Given the description of an element on the screen output the (x, y) to click on. 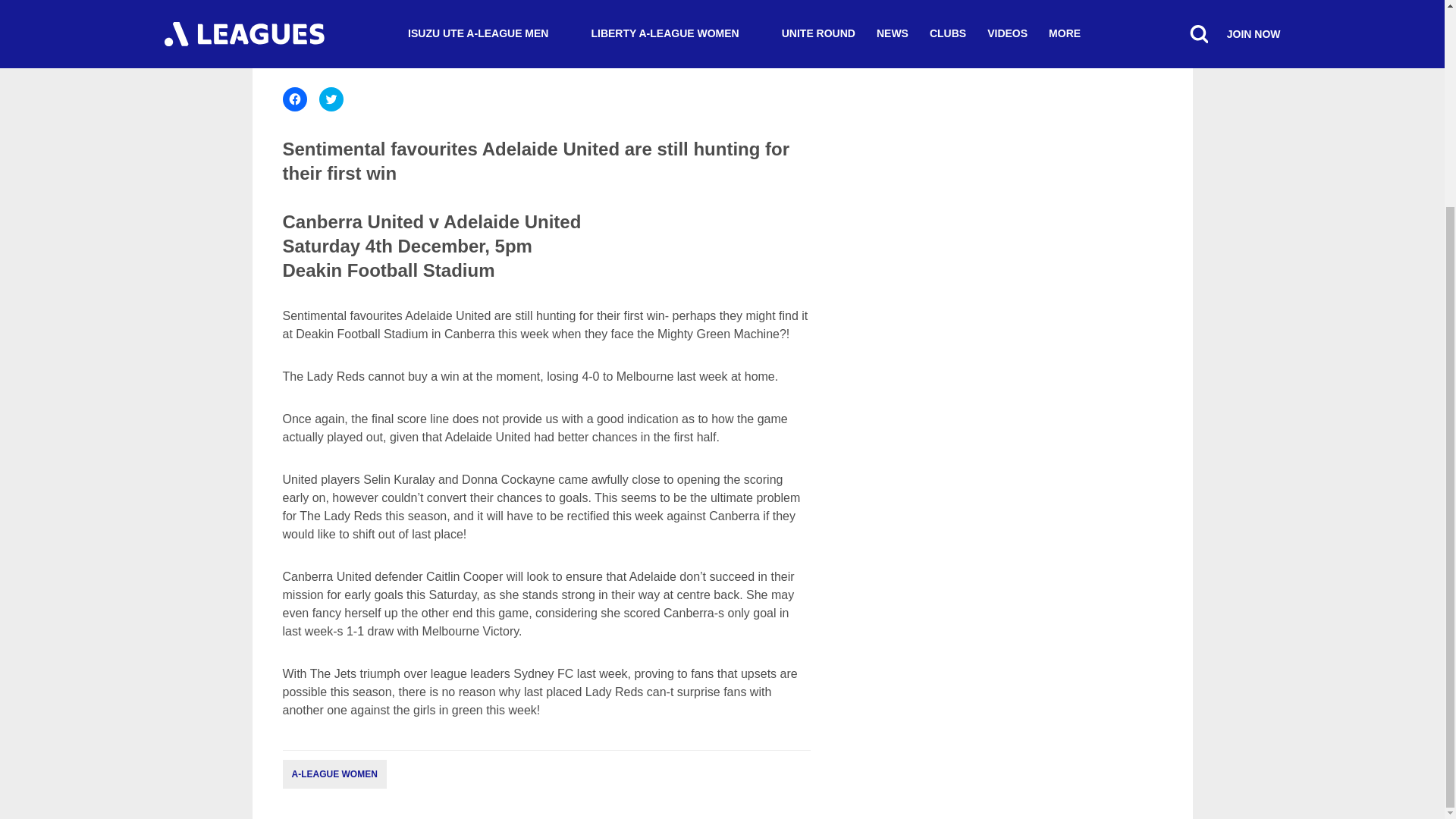
Click to share on Facebook (293, 98)
Click to share on Twitter (330, 98)
